Given the description of an element on the screen output the (x, y) to click on. 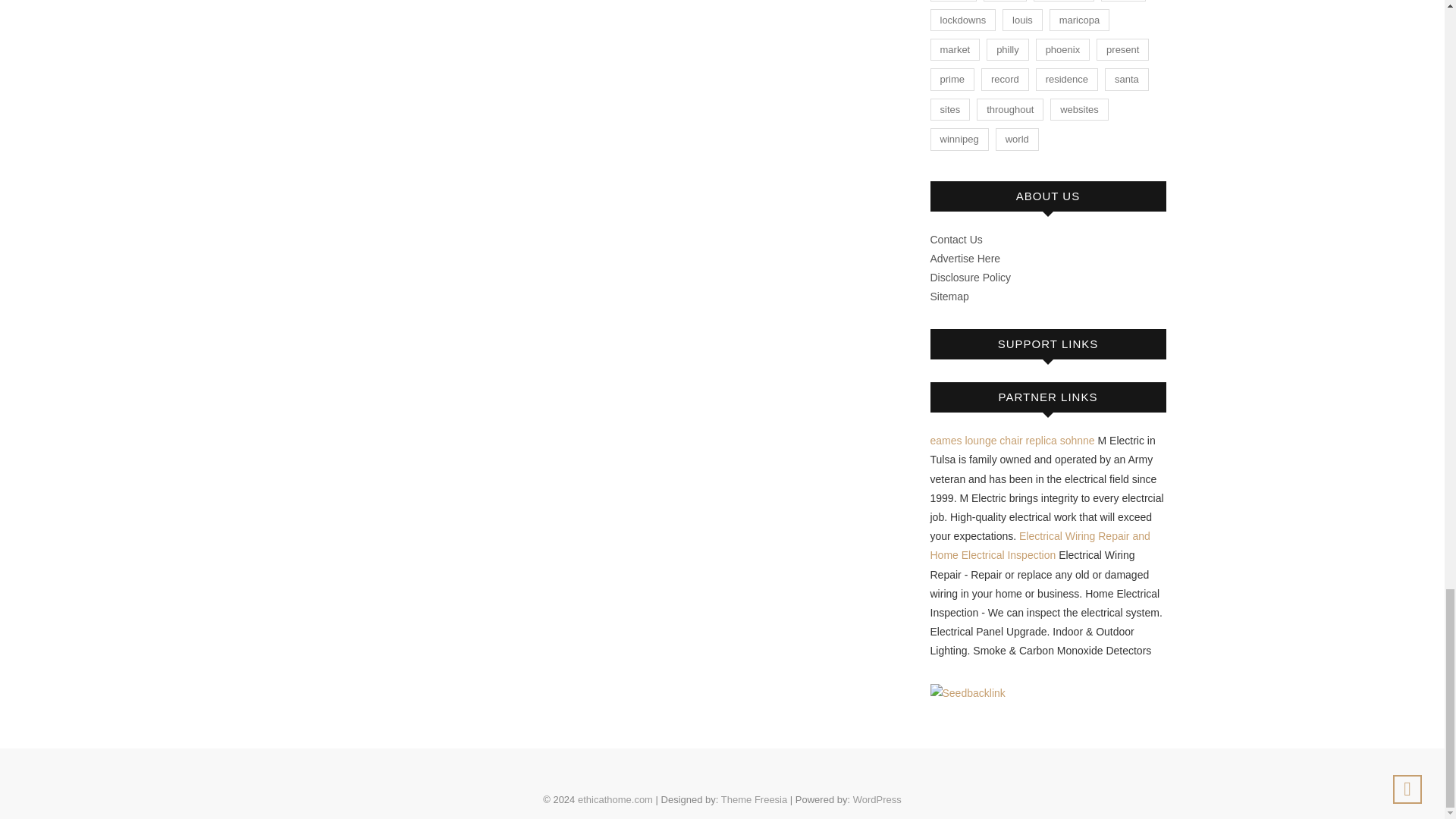
ethicathome.com (615, 799)
Seedbacklink (967, 692)
WordPress (877, 799)
Theme Freesia (753, 799)
